Given the description of an element on the screen output the (x, y) to click on. 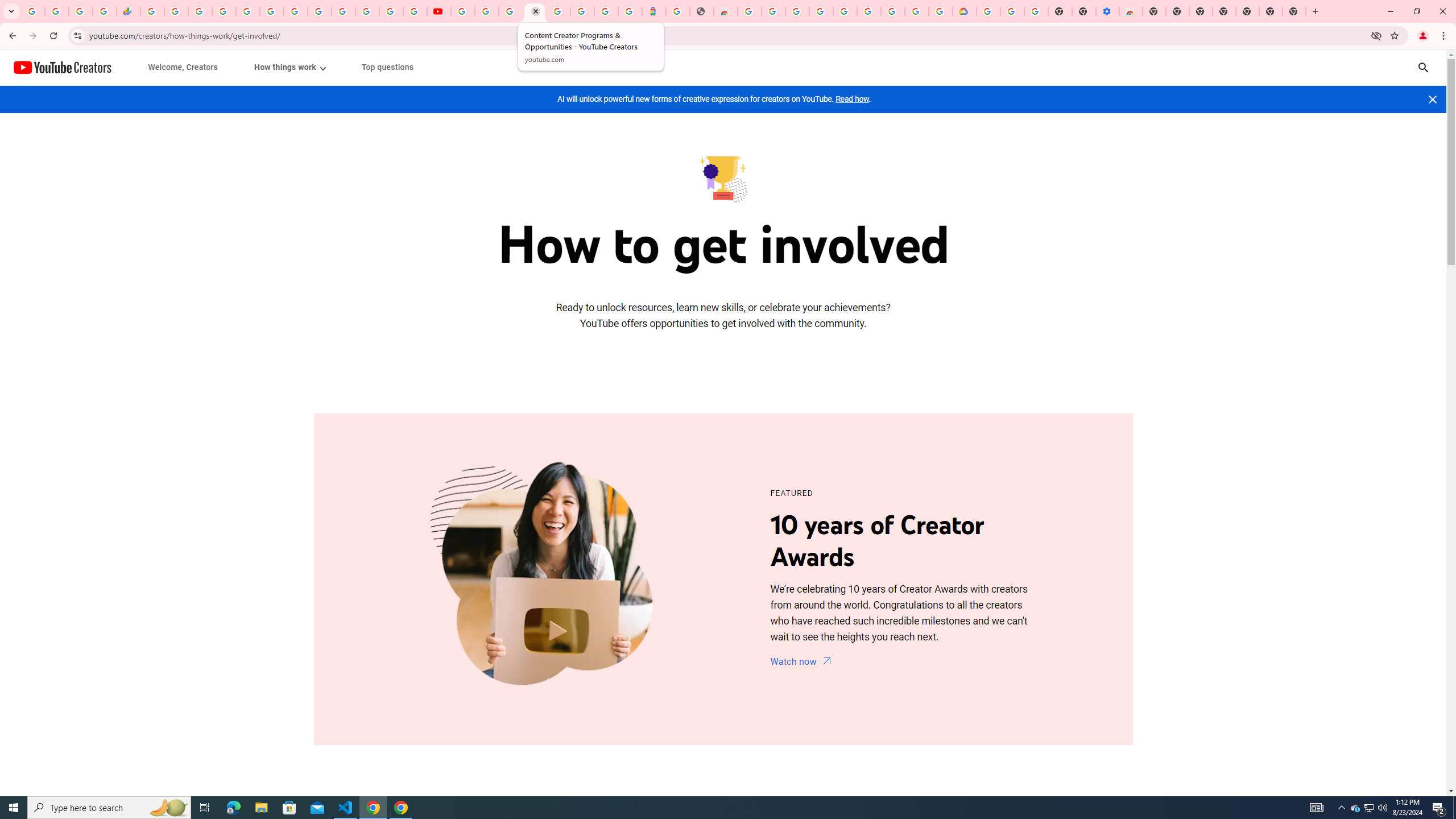
Welcome, Creators (183, 67)
Settings - Accessibility (1107, 11)
Google Account Help (1012, 11)
10 years of Creator Awards (546, 578)
Chrome Web Store - Accessibility extensions (1130, 11)
YouTube (438, 11)
New Tab (1293, 11)
Read how (852, 99)
Ad Settings (796, 11)
YouTube (462, 11)
